Given the description of an element on the screen output the (x, y) to click on. 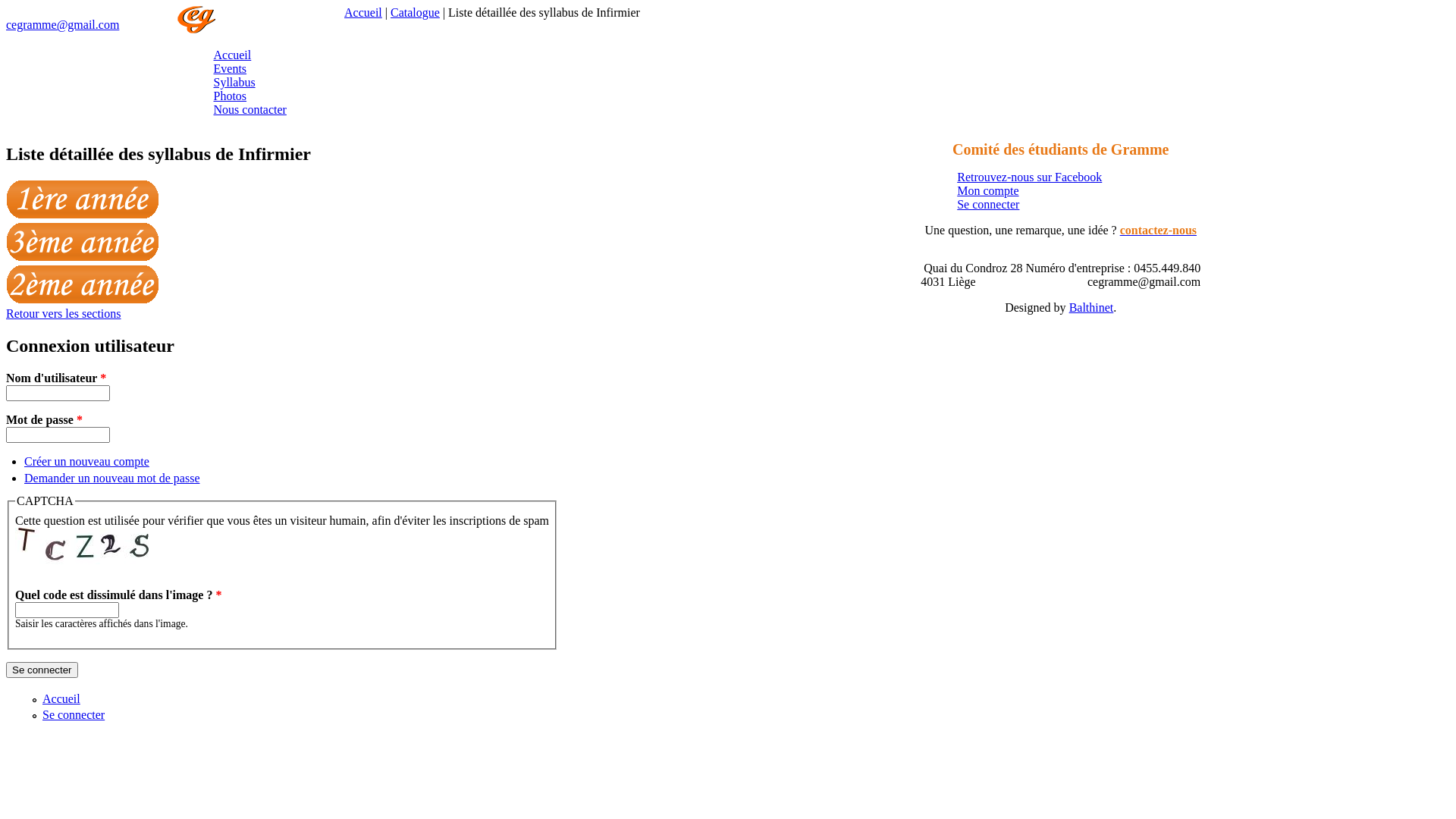
Se connecter Element type: text (42, 669)
Retour vers les sections Element type: text (63, 313)
Balthinet Element type: text (1091, 307)
Catalogue Element type: text (414, 12)
Photos Element type: text (230, 95)
Accueil Element type: text (232, 54)
Syllabus Element type: text (234, 81)
Image CAPTCHA Element type: hover (83, 550)
Mon compte Element type: text (987, 190)
contactez-nous Element type: text (1158, 229)
Events Element type: text (230, 68)
Nous contacter Element type: text (249, 109)
Aller au contenu principal Element type: text (69, 6)
Skip to navigation Element type: text (50, 6)
Accueil Element type: text (61, 698)
Se connecter Element type: text (988, 203)
Retrouvez-nous sur Facebook Element type: text (1029, 176)
Accueil Element type: text (363, 12)
Demander un nouveau mot de passe Element type: text (111, 477)
Se connecter Element type: text (73, 714)
Accueil Element type: hover (196, 28)
cegramme@gmail.com Element type: text (62, 24)
